Given the description of an element on the screen output the (x, y) to click on. 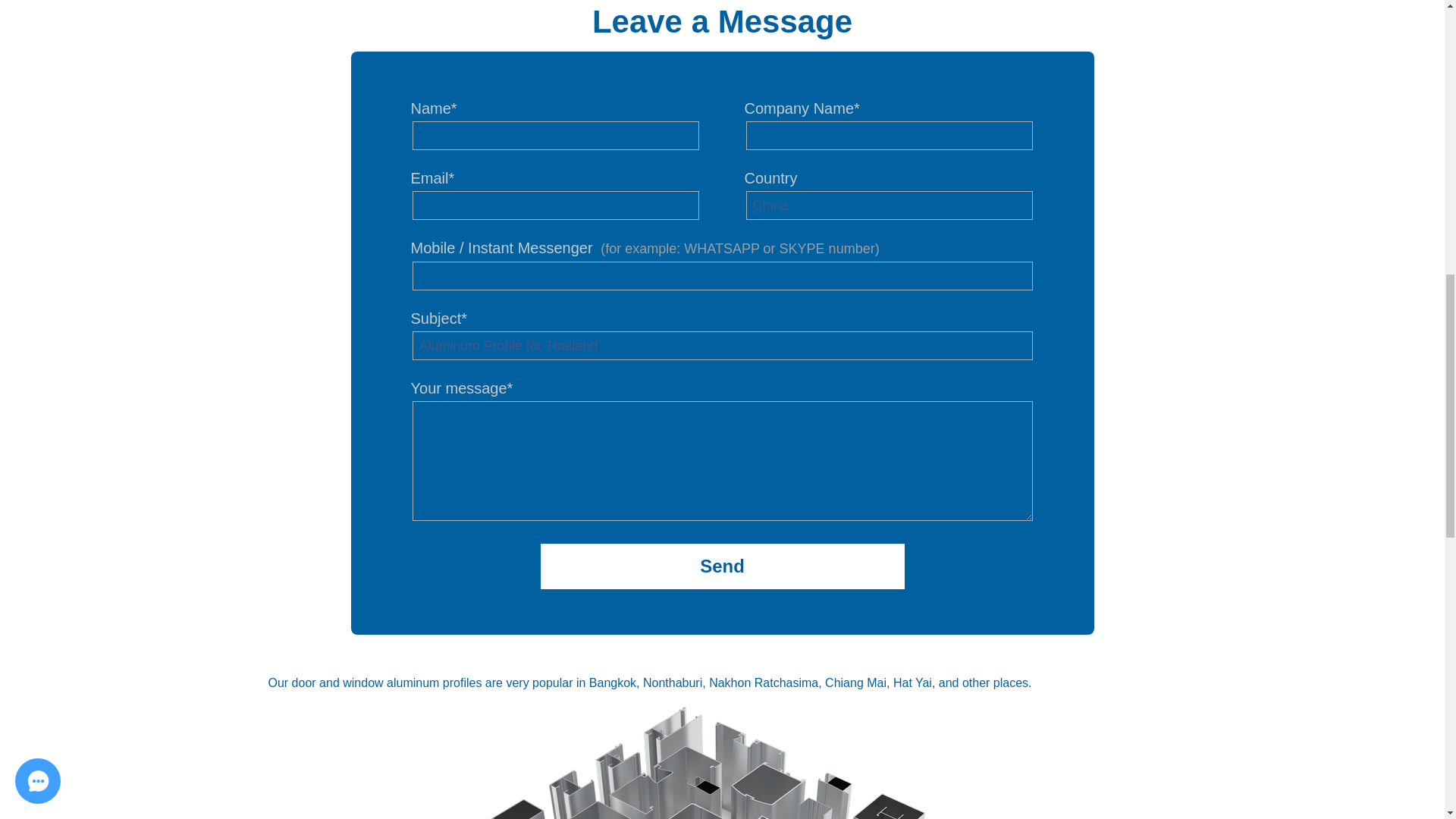
Aluminum Profile for Thailand (722, 345)
China (888, 205)
Thailand (721, 756)
Send (722, 565)
